Given the description of an element on the screen output the (x, y) to click on. 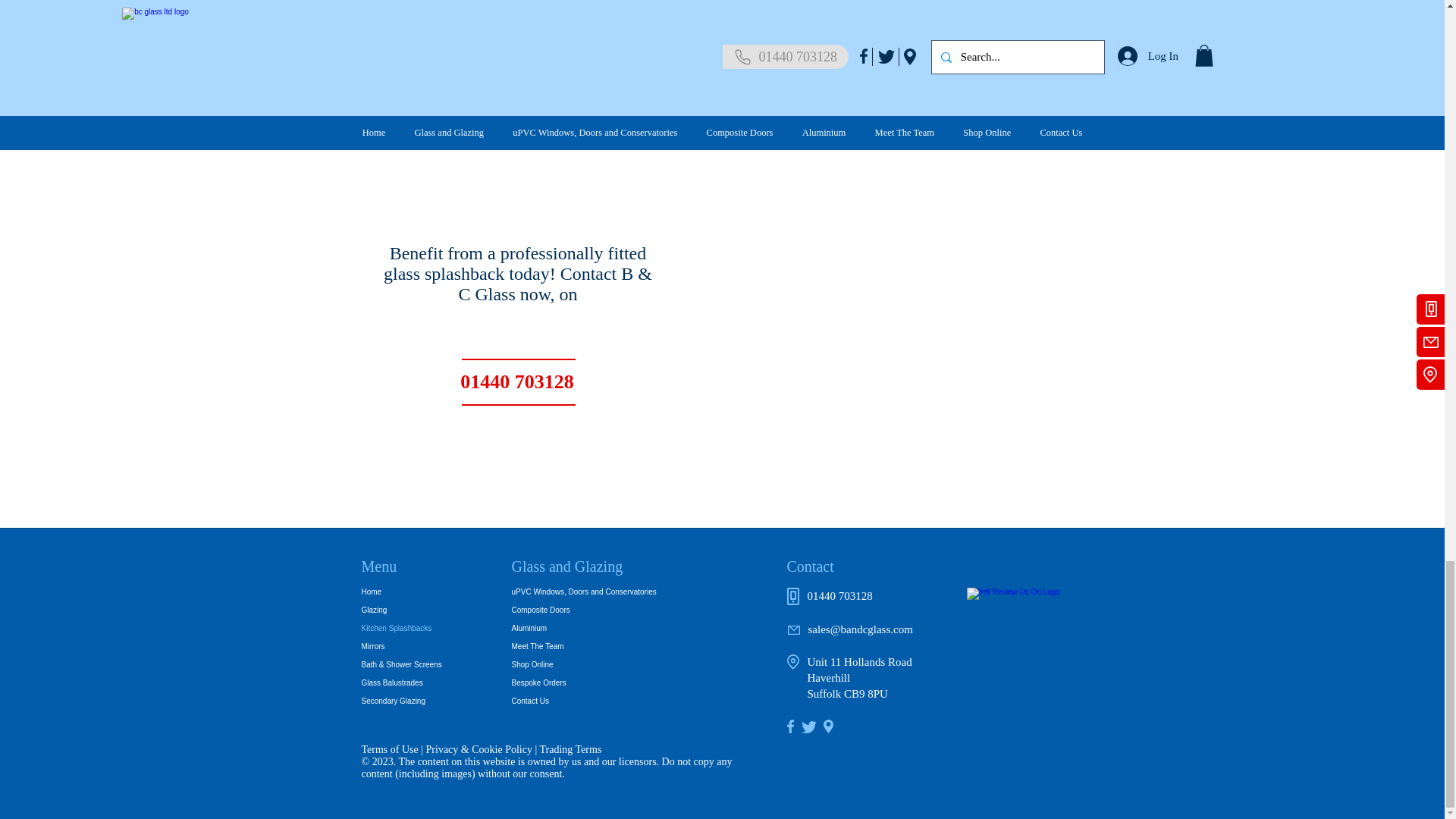
Mirrors (414, 647)
Glazing (414, 610)
Home (414, 592)
Kitchen Splashbacks (414, 628)
